Given the description of an element on the screen output the (x, y) to click on. 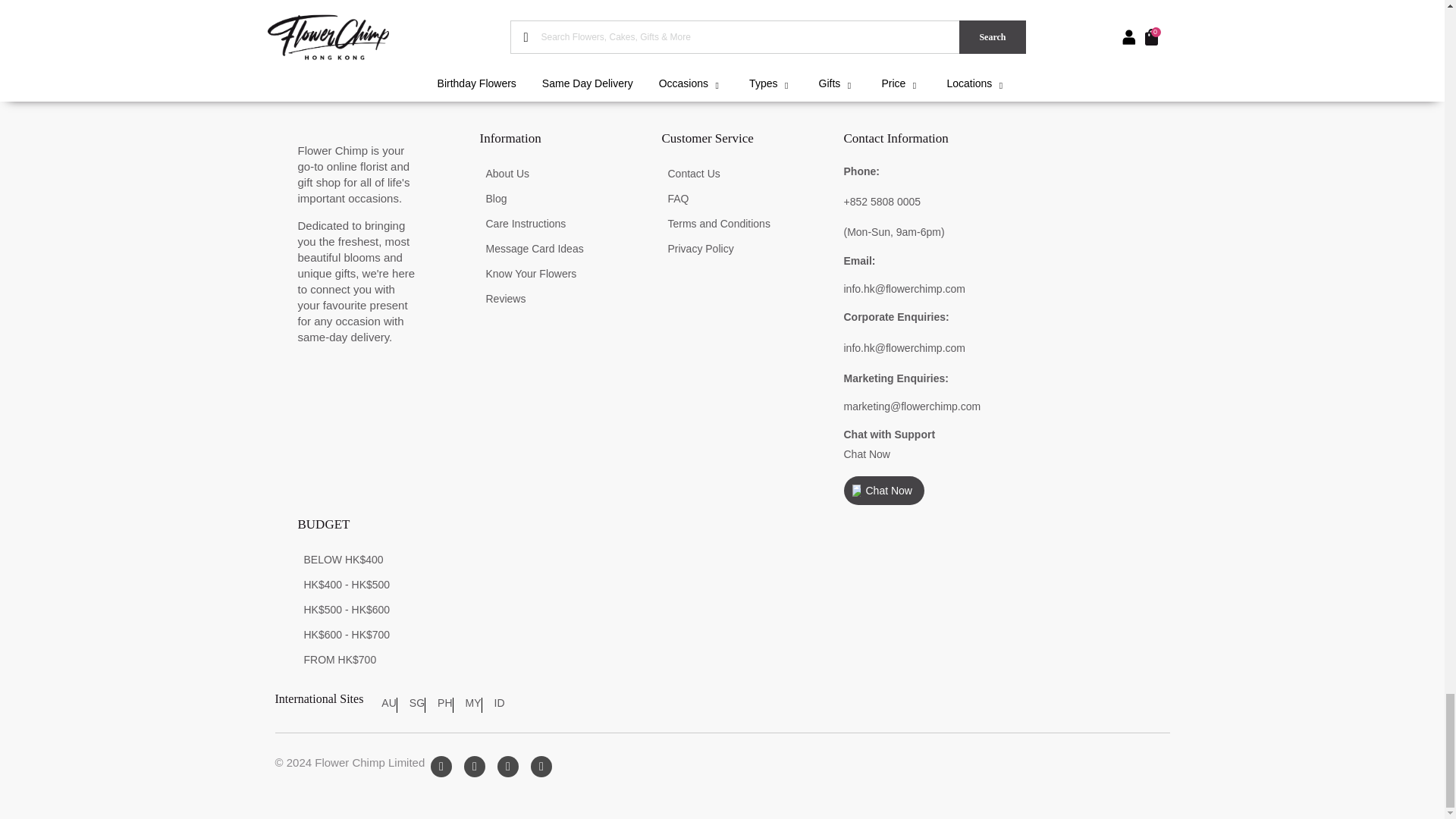
Subcribe (1120, 18)
